Given the description of an element on the screen output the (x, y) to click on. 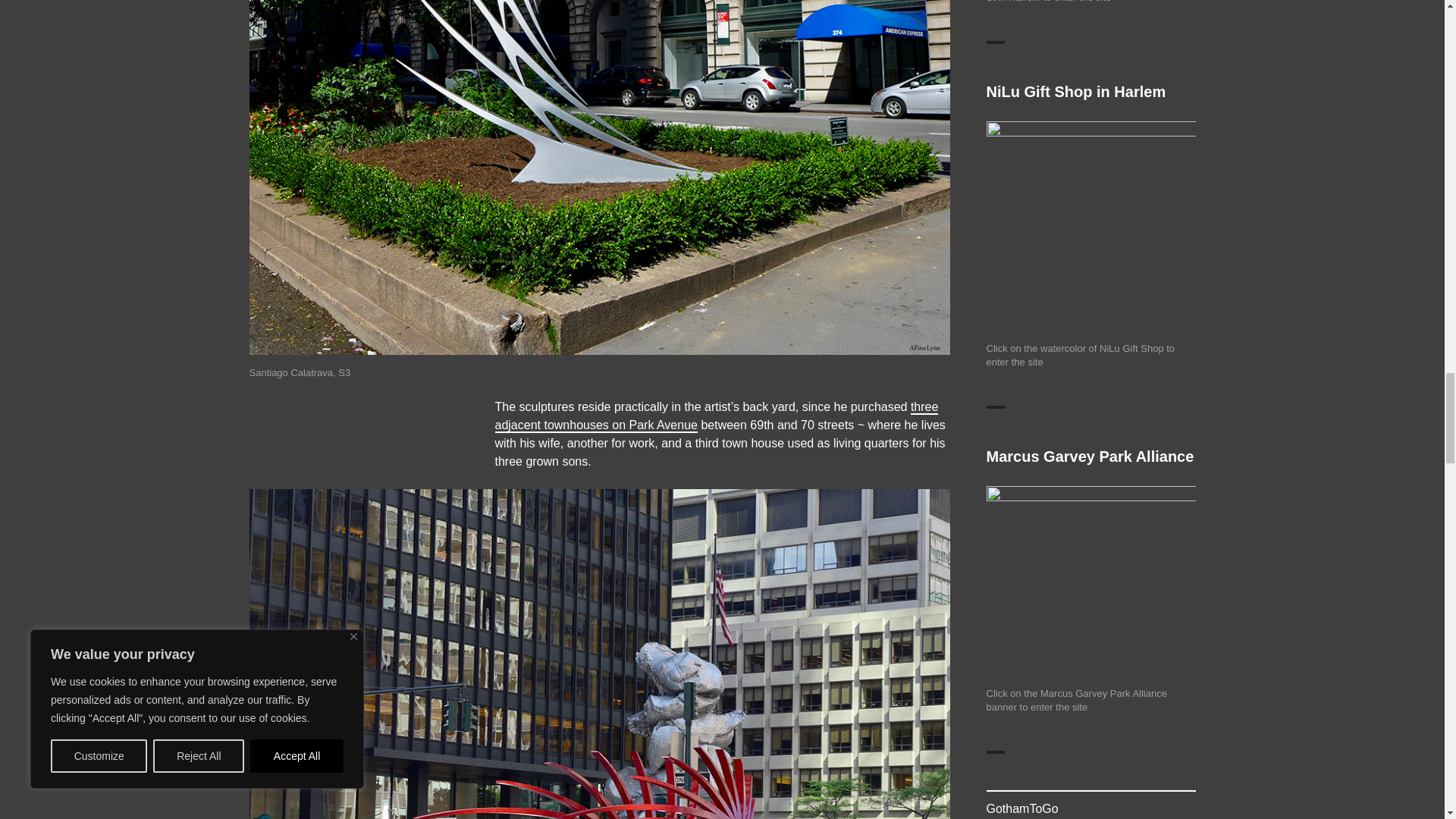
three adjacent townhouses on Park Avenue (716, 415)
